Given the description of an element on the screen output the (x, y) to click on. 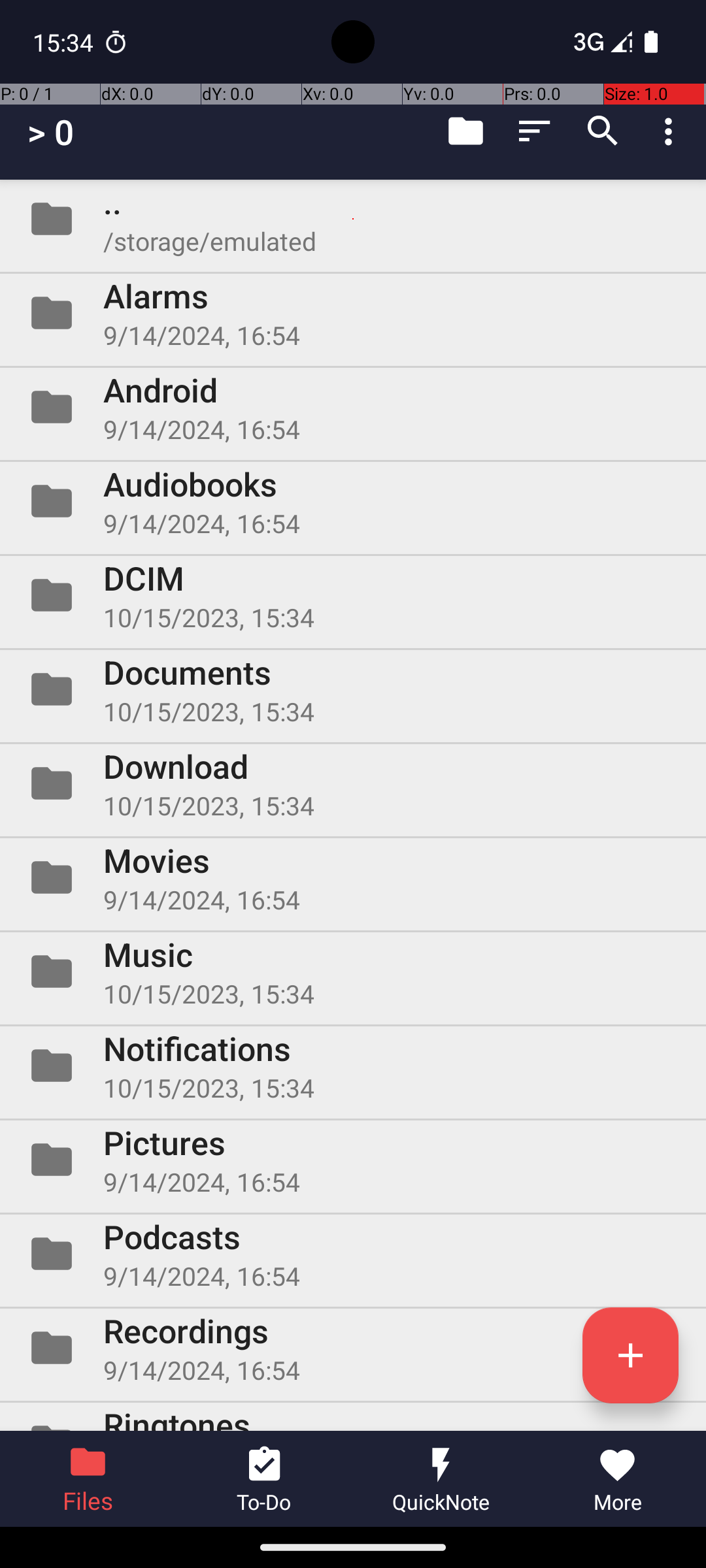
> 0 Element type: android.widget.TextView (50, 131)
Folder .. /storage/emulated/0 Element type: android.widget.LinearLayout (353, 218)
Folder Alarms 10/15/2023, 15:34 Element type: android.widget.LinearLayout (353, 312)
Folder Android  Element type: android.widget.LinearLayout (353, 406)
Folder Audiobooks  Element type: android.widget.LinearLayout (353, 500)
Folder DCIM  Element type: android.widget.LinearLayout (353, 594)
Folder Documents  Element type: android.widget.LinearLayout (353, 689)
Folder Download  Element type: android.widget.LinearLayout (353, 783)
Folder Movies  Element type: android.widget.LinearLayout (353, 877)
Folder Music  Element type: android.widget.LinearLayout (353, 971)
Folder Notifications  Element type: android.widget.LinearLayout (353, 1065)
Folder Pictures  Element type: android.widget.LinearLayout (353, 1159)
Folder Podcasts  Element type: android.widget.LinearLayout (353, 1253)
Folder Recordings  Element type: android.widget.LinearLayout (353, 1347)
Folder Ringtones  Element type: android.widget.LinearLayout (353, 1416)
